Given the description of an element on the screen output the (x, y) to click on. 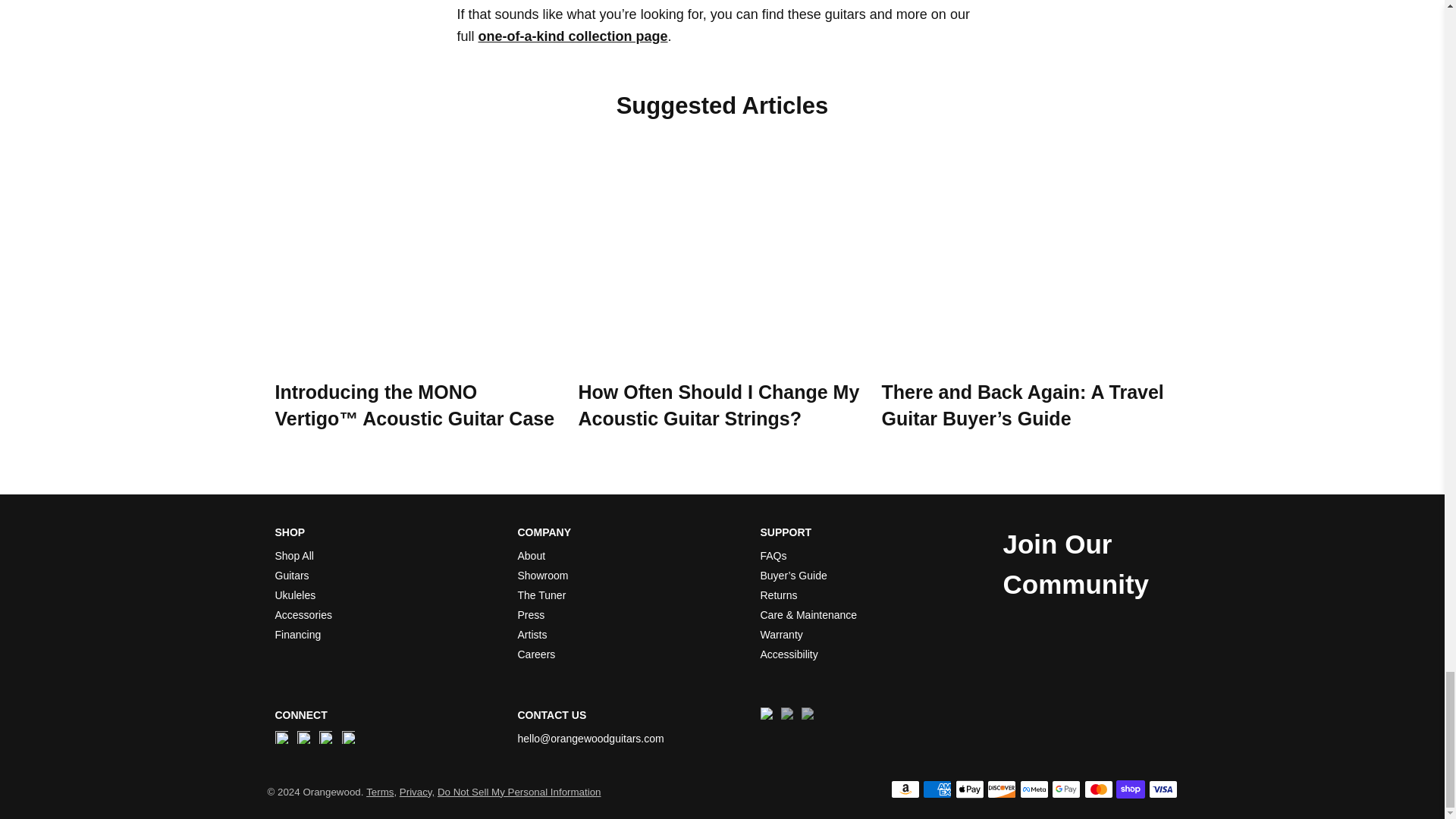
Visa (1162, 789)
Meta Pay (1034, 789)
How Often Should I Change My Acoustic Guitar Strings? (718, 405)
Privacy Policy (415, 791)
American Express (937, 789)
Mastercard (1098, 789)
How Often Should I Change My Acoustic Guitar Strings? (722, 262)
Apple Pay (969, 789)
Amazon (905, 789)
Discover (1001, 789)
